Given the description of an element on the screen output the (x, y) to click on. 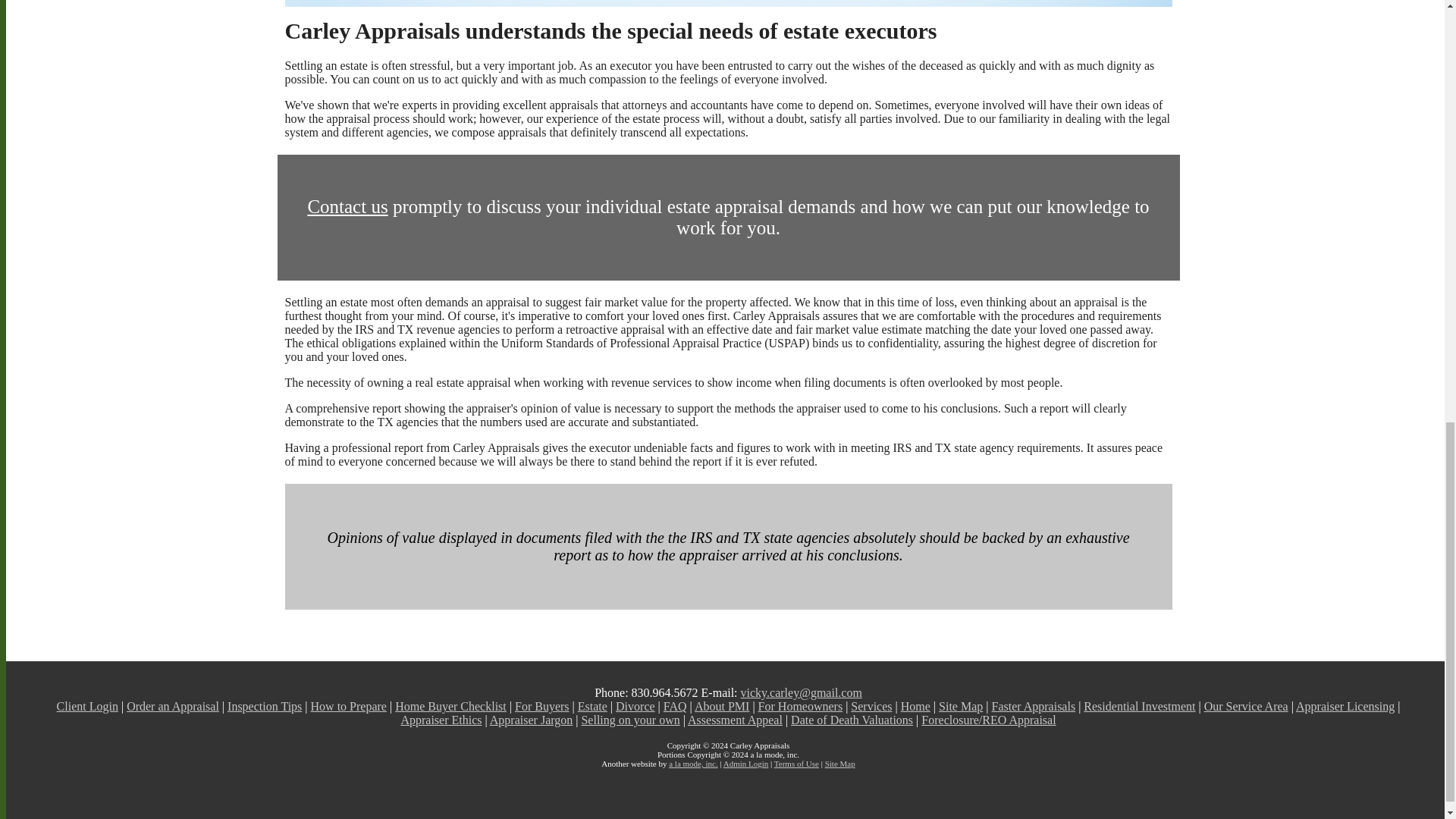
Contact us (347, 206)
